Given the description of an element on the screen output the (x, y) to click on. 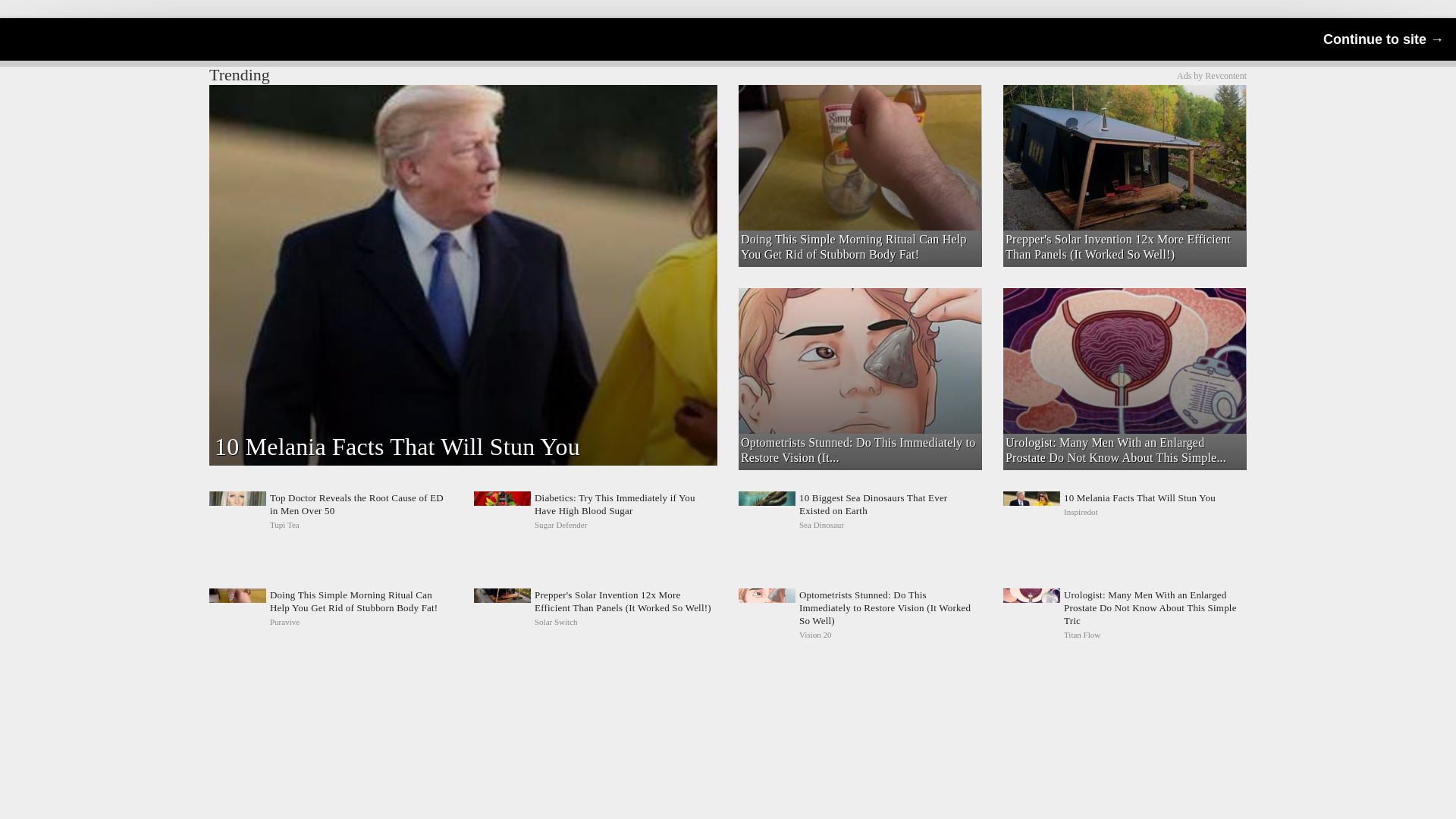
10 Melania Facts That Will Stun You (1124, 510)
10 Biggest Sea Dinosaurs That Ever Existed on Earth (859, 510)
Ads by Revcontent (1124, 510)
Top Doctor Reveals the Root Cause of ED in Men Over 50 (1211, 75)
